Given the description of an element on the screen output the (x, y) to click on. 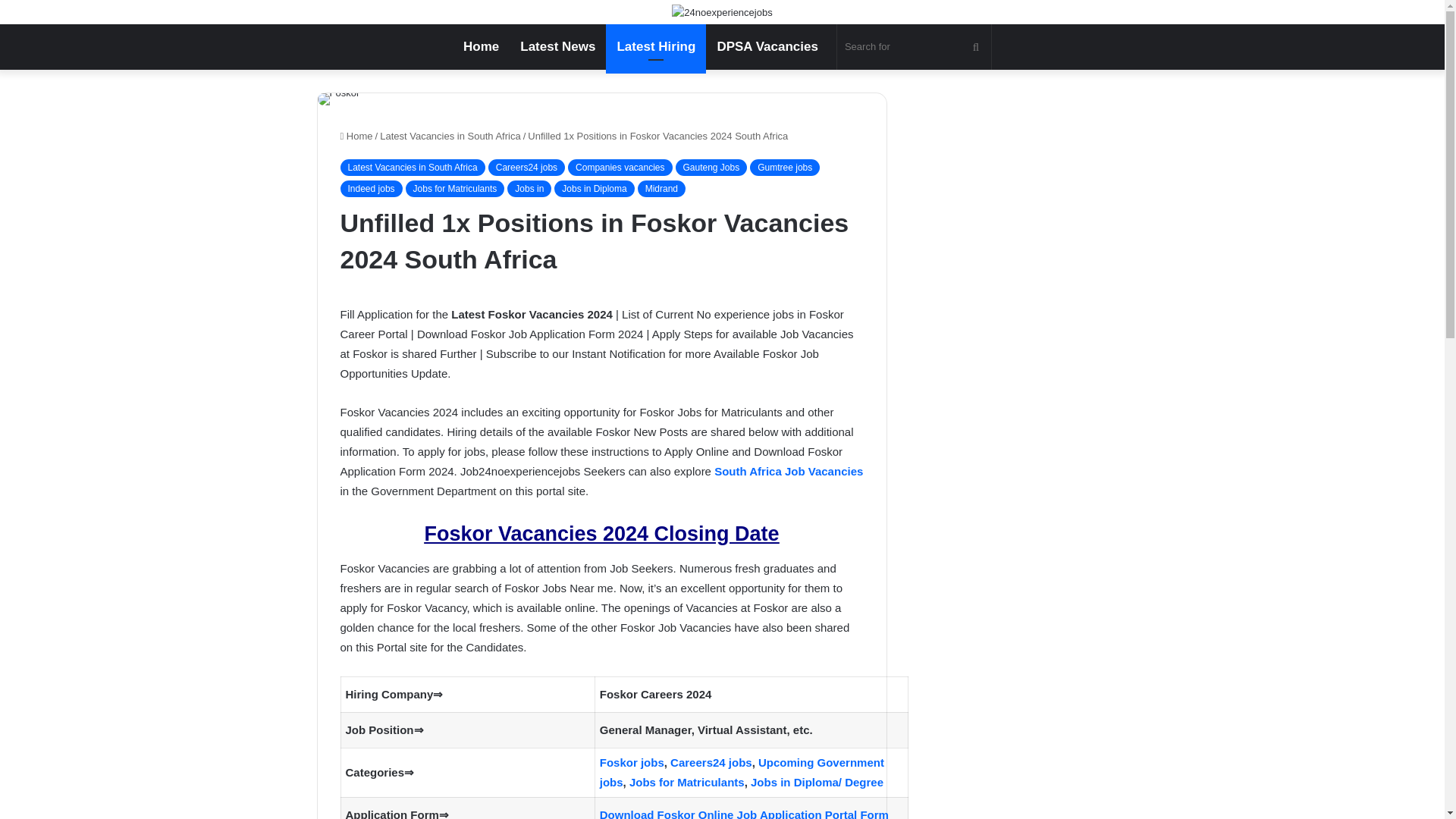
Home (355, 135)
Midrand (661, 188)
Latest Hiring (655, 46)
Gumtree jobs (784, 167)
South Africa Job Vacancies (788, 471)
Gauteng Jobs (710, 167)
Careers24 jobs (525, 167)
Careers24 jobs (710, 762)
Jobs for Matriculants (455, 188)
Latest Vacancies in South Africa (449, 135)
Companies vacancies (619, 167)
Latest News (557, 46)
Search for (914, 46)
Home (480, 46)
Jobs in (528, 188)
